Given the description of an element on the screen output the (x, y) to click on. 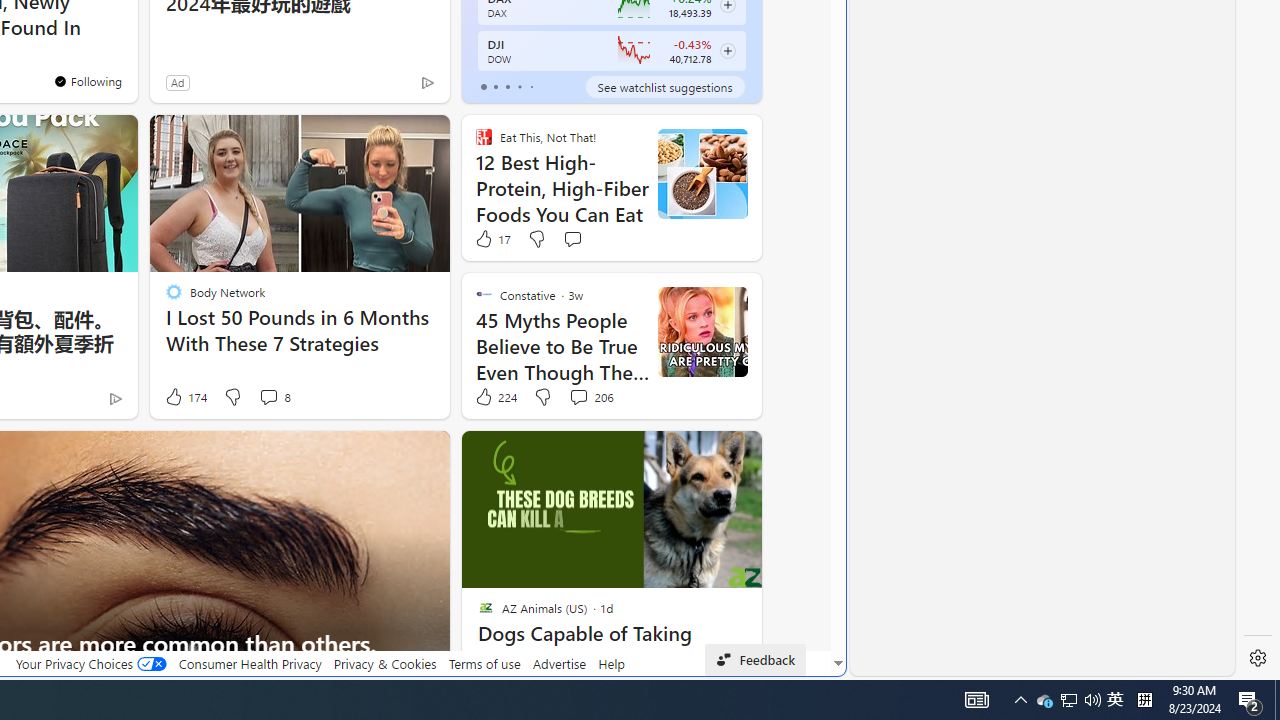
Dislike (541, 397)
Your Privacy Choices (90, 663)
Class: follow-button  m (727, 51)
Feedback (755, 659)
See watchlist suggestions (664, 86)
tab-4 (530, 86)
Privacy & Cookies (384, 663)
tab-3 (519, 86)
You're following The Weather Channel (87, 80)
View comments 8 Comment (274, 397)
tab-1 (494, 86)
tab-2 (507, 86)
Hide this story (388, 454)
See more (425, 454)
